Given the description of an element on the screen output the (x, y) to click on. 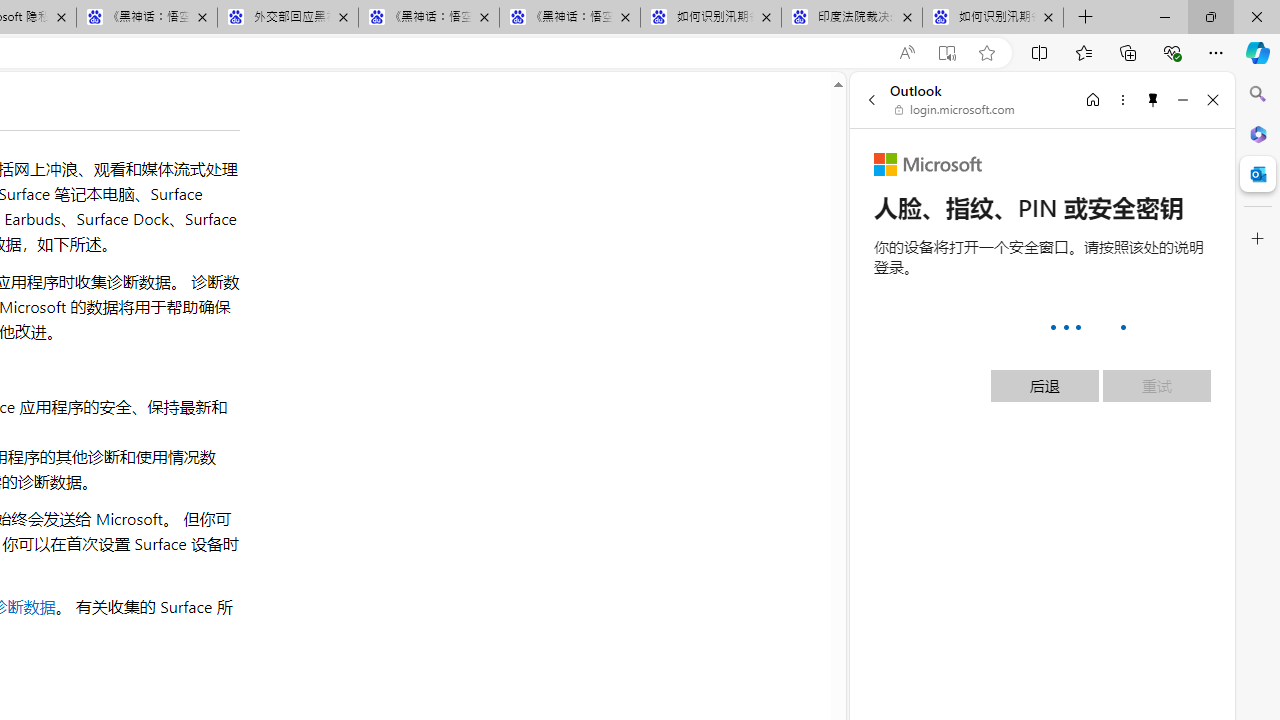
login.microsoft.com (955, 110)
Enter Immersive Reader (F9) (946, 53)
Microsoft (927, 164)
